Given the description of an element on the screen output the (x, y) to click on. 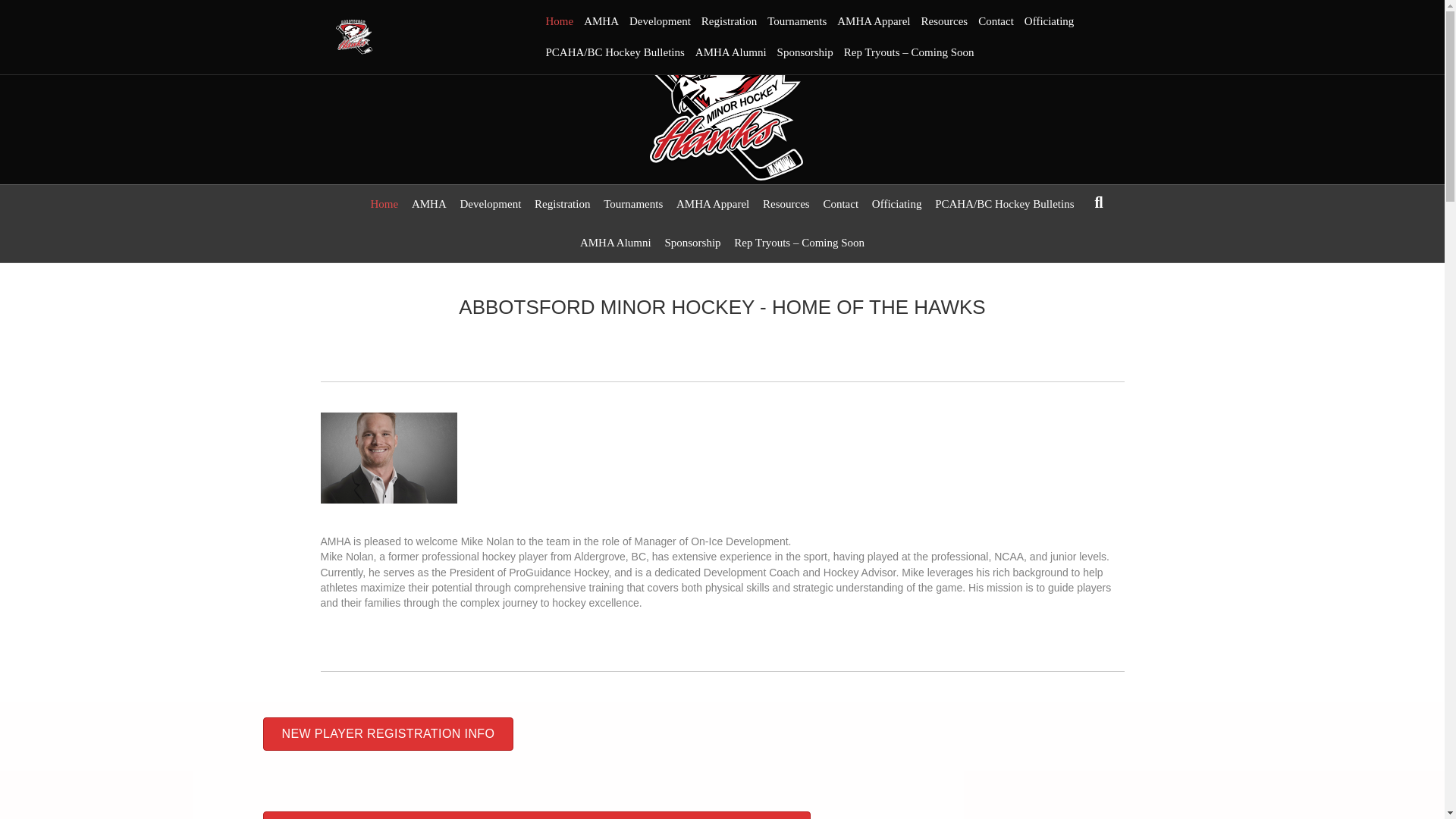
Home (559, 20)
Tournaments (796, 20)
AMHA (601, 20)
Development (659, 20)
Registration (728, 20)
Resources (944, 20)
692ad52e-ada0-44ed-b688-50711632dce5 (388, 457)
AMHA Apparel (873, 20)
